Given the description of an element on the screen output the (x, y) to click on. 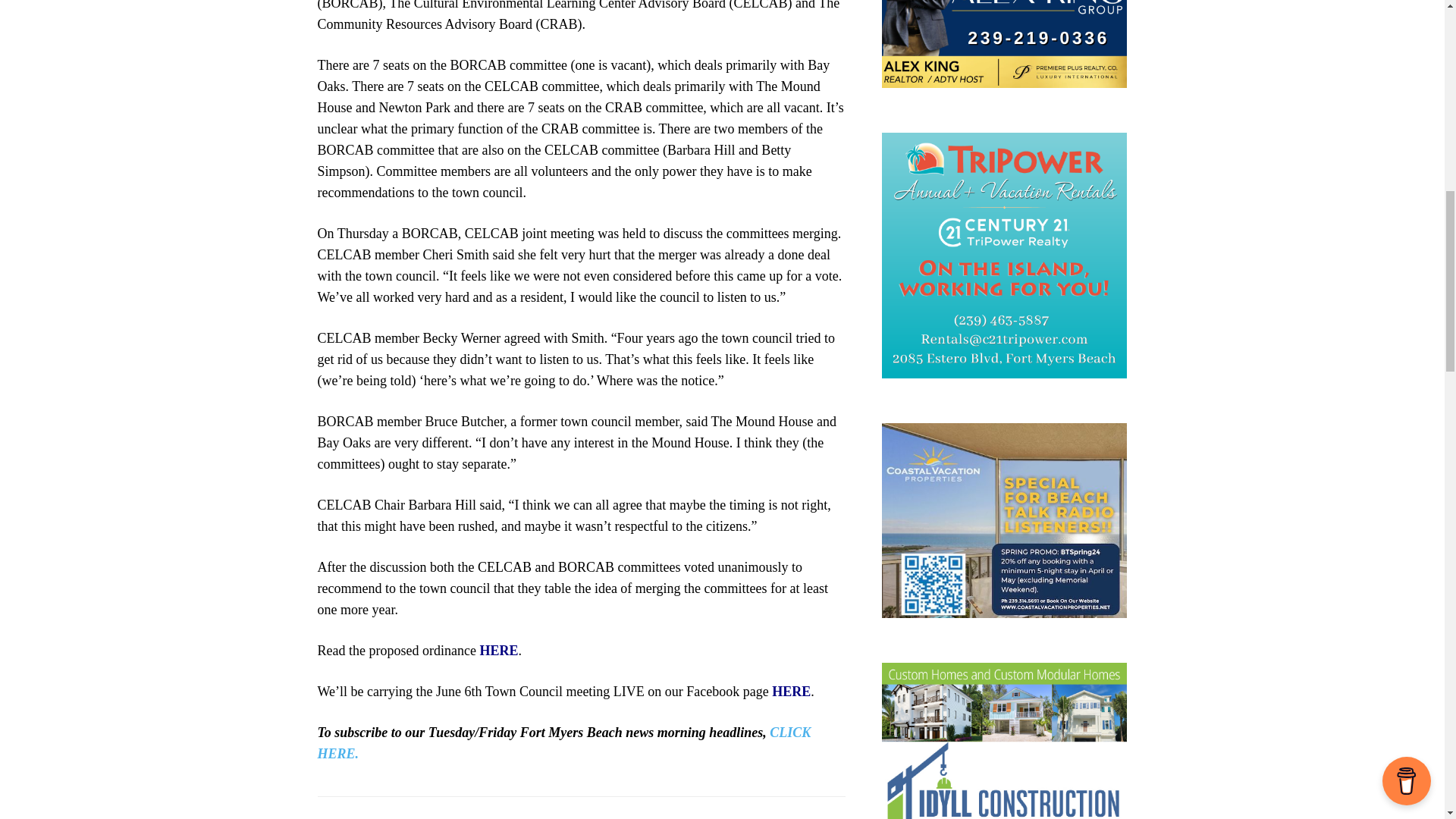
HERE (498, 650)
CLICK HERE. (563, 742)
HERE (790, 691)
